Given the description of an element on the screen output the (x, y) to click on. 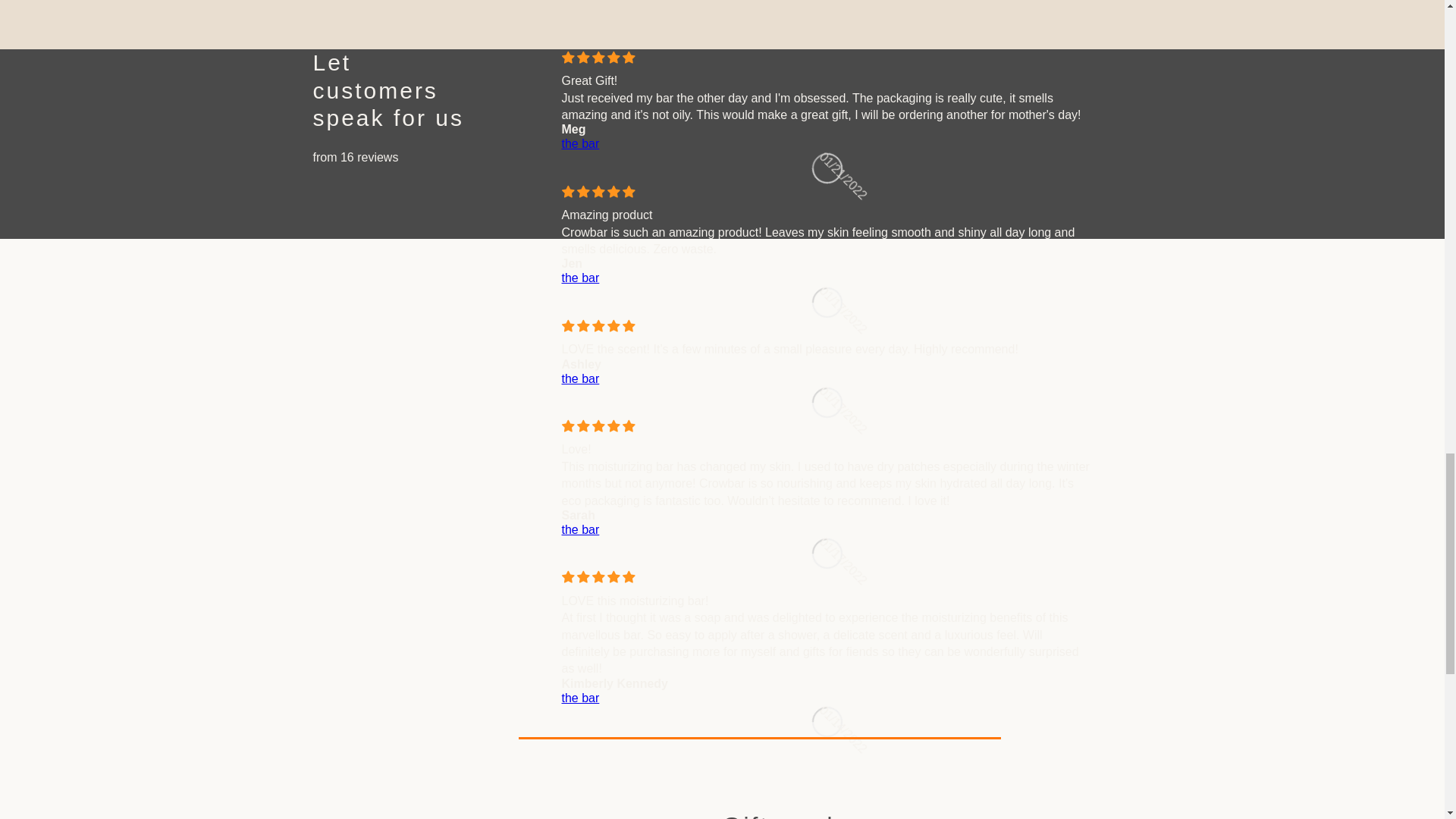
the bar (826, 698)
the bar (826, 143)
the bar (826, 278)
the bar (826, 529)
the bar (826, 379)
